Given the description of an element on the screen output the (x, y) to click on. 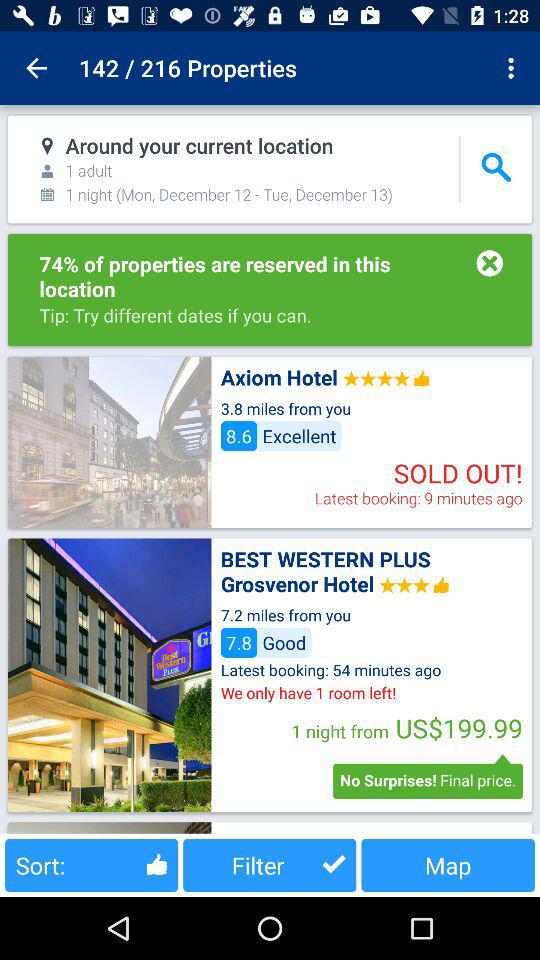
choose axiom hotel (109, 442)
